Given the description of an element on the screen output the (x, y) to click on. 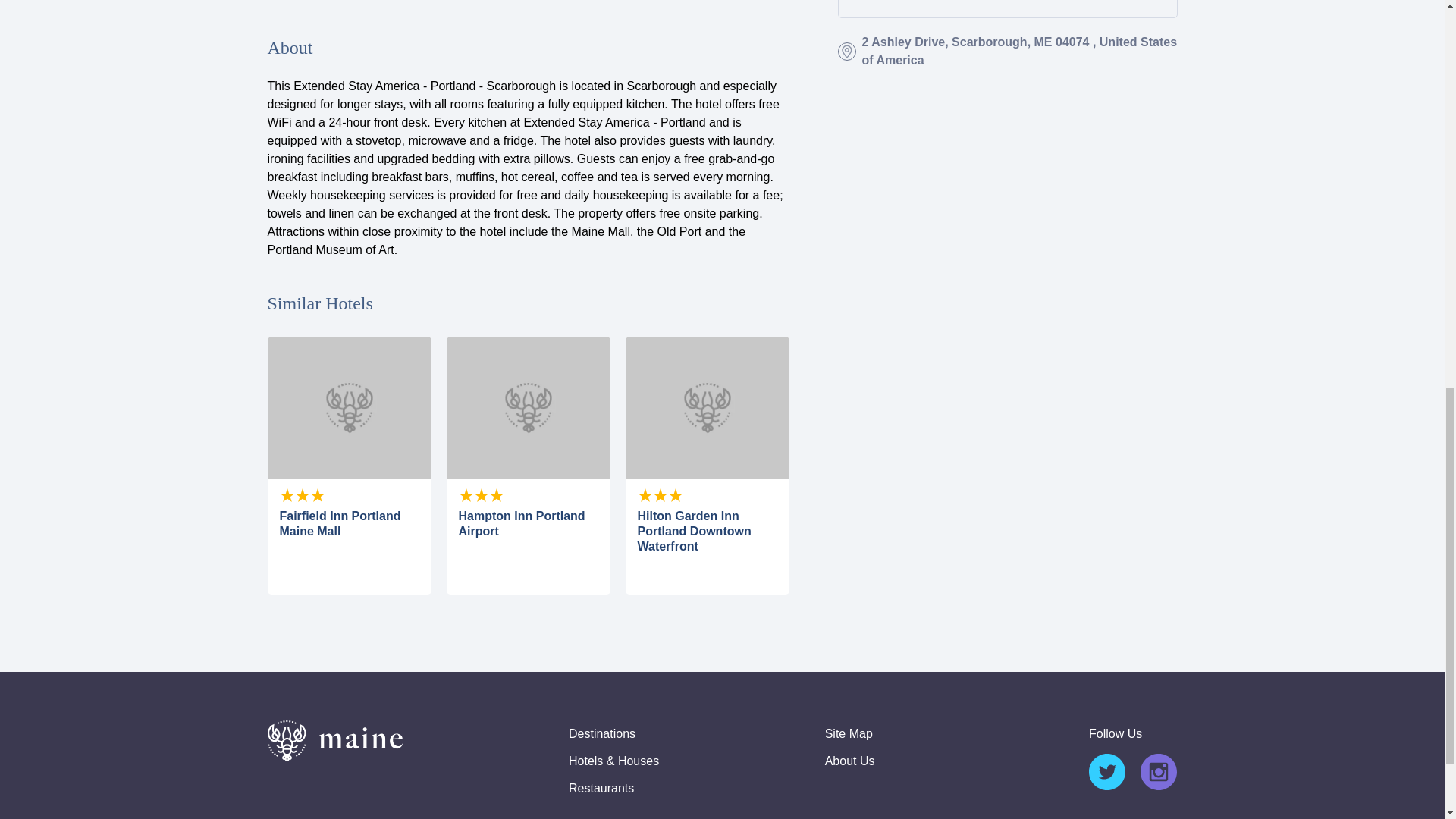
About Us (850, 761)
Destinations (601, 734)
Site Map (848, 734)
Restaurants (601, 788)
